Given the description of an element on the screen output the (x, y) to click on. 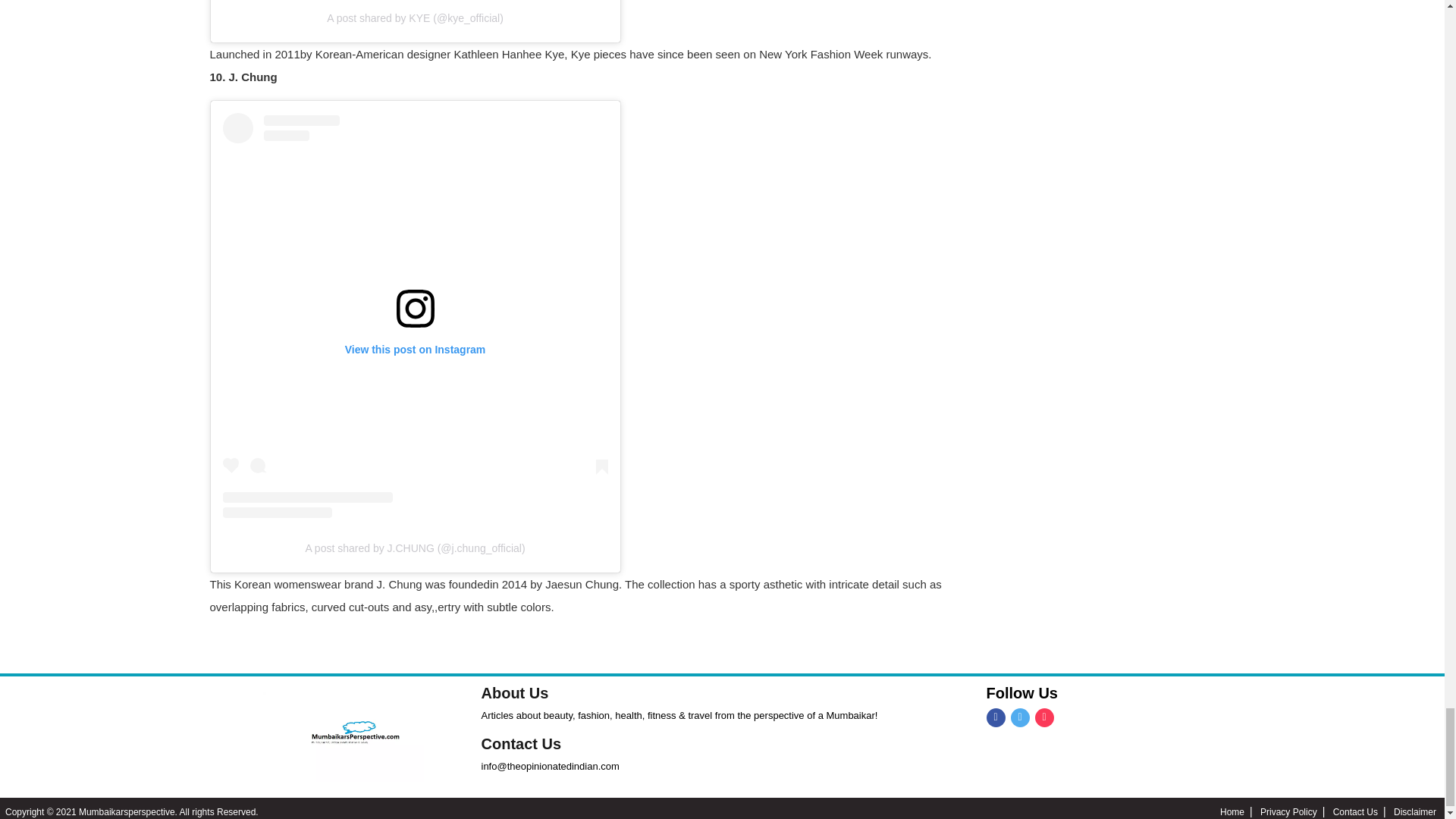
Instagram (1042, 717)
Facebook (994, 717)
Twitter (1019, 717)
